Given the description of an element on the screen output the (x, y) to click on. 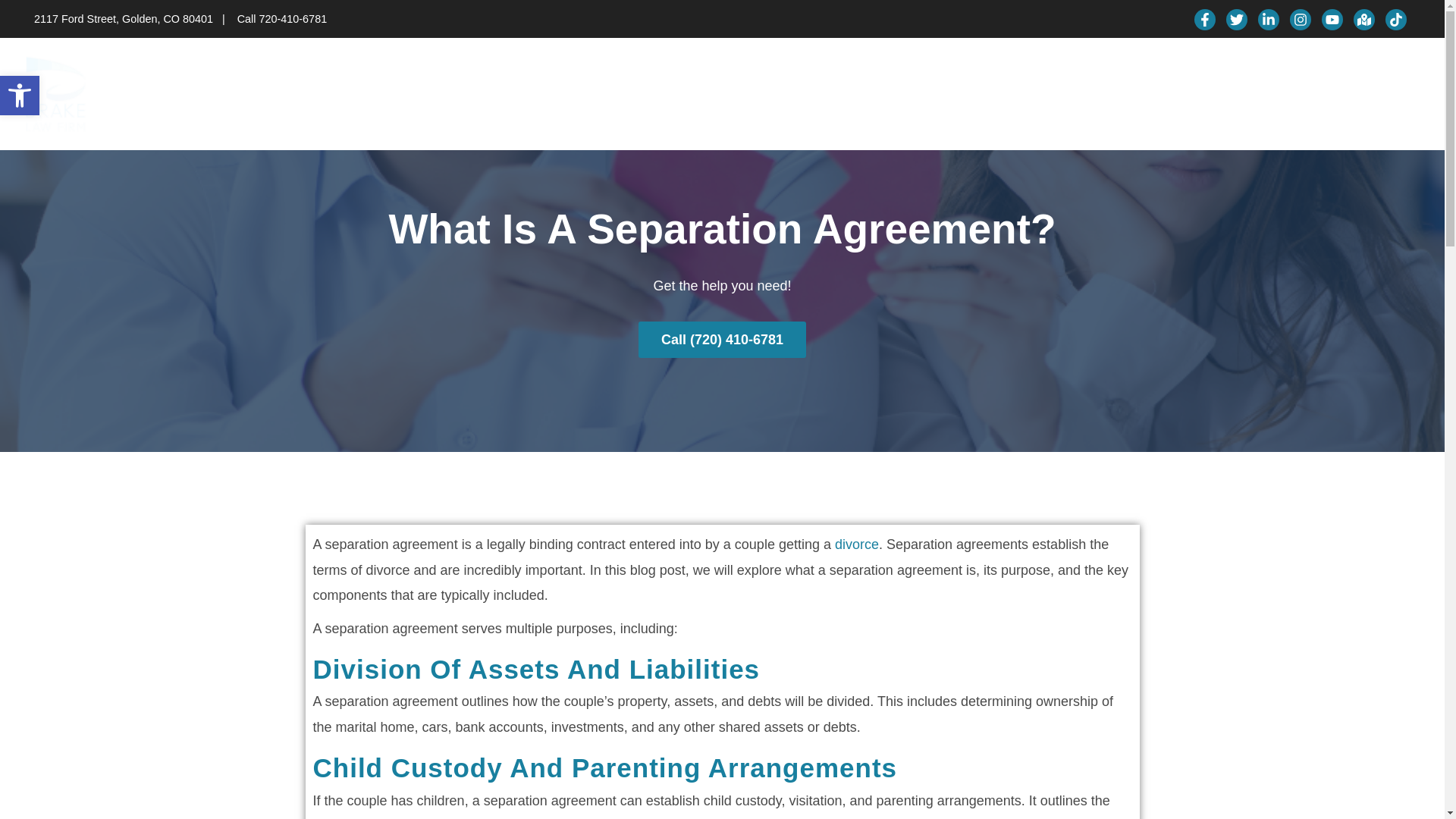
Accessibility Tools (19, 95)
Home (844, 94)
About The Firm (922, 94)
Accessibility Tools (19, 95)
Readable Font (19, 95)
